Given the description of an element on the screen output the (x, y) to click on. 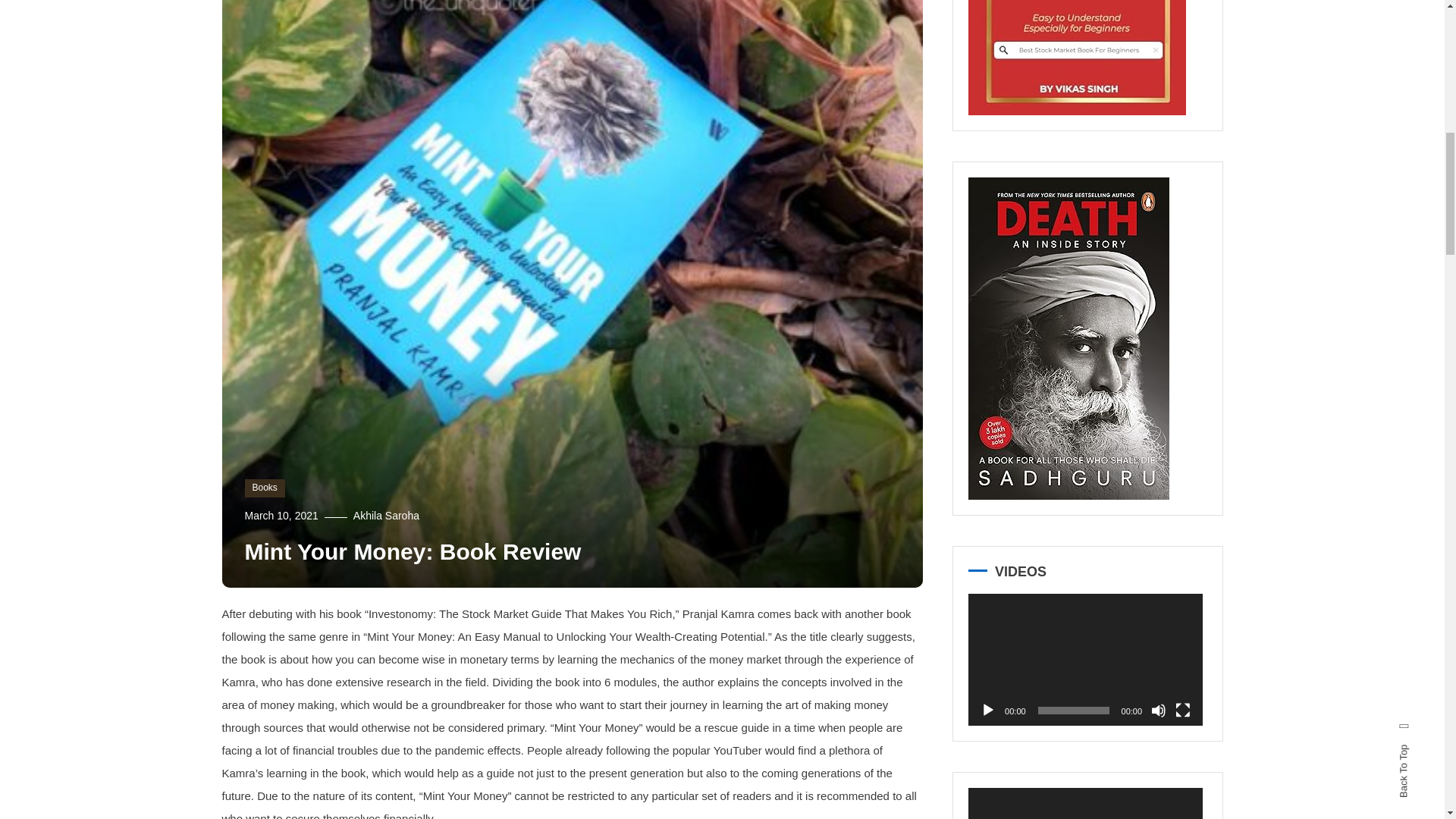
Fullscreen (1182, 710)
Mute (1158, 710)
Play (987, 710)
